Given the description of an element on the screen output the (x, y) to click on. 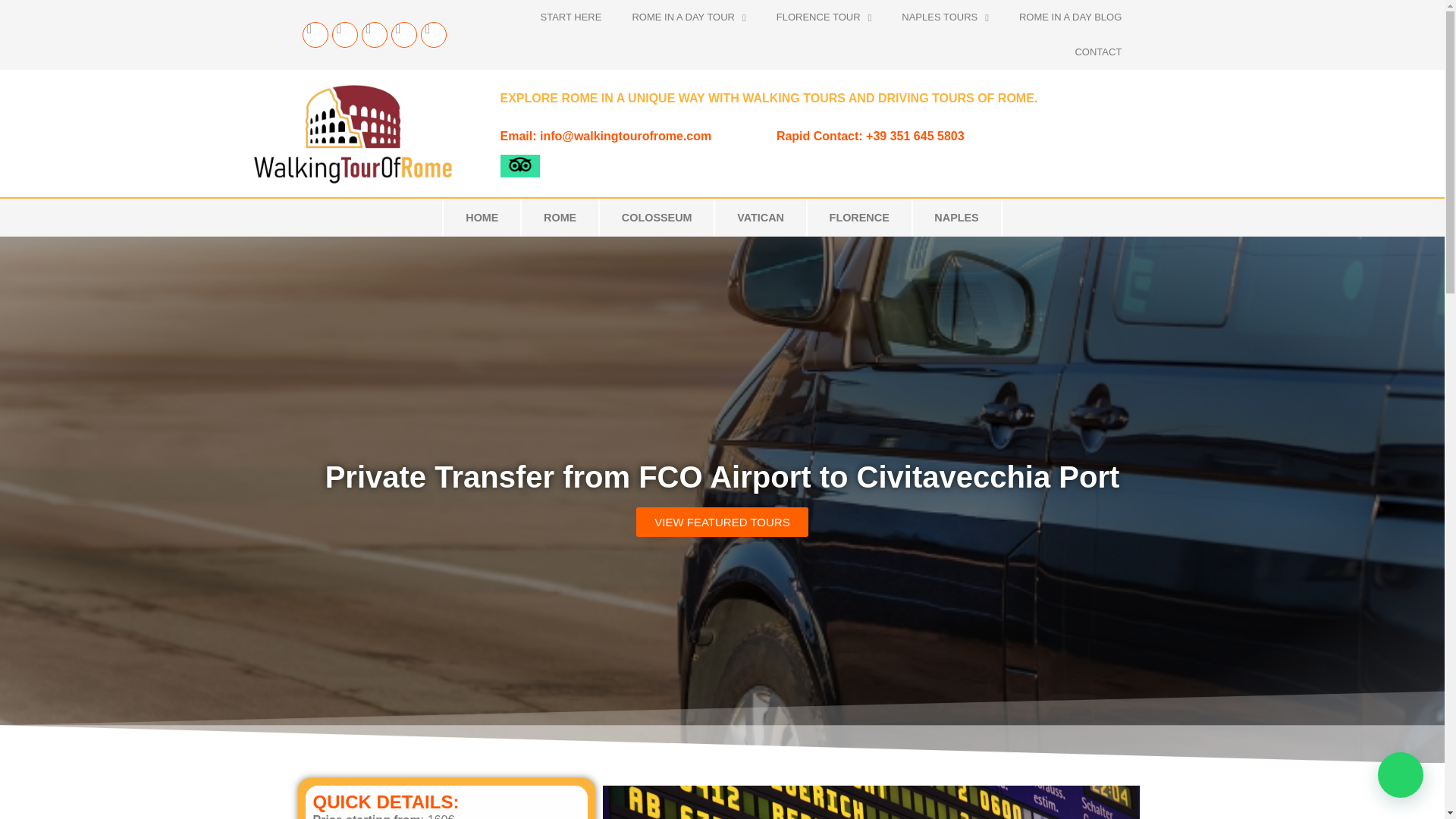
wtr tripadvisor logo (520, 165)
NAPLES TOURS (945, 17)
logo Walking Tour of Rome (352, 133)
ROME IN A DAY TOUR (687, 17)
CONTACT (1098, 52)
FLORENCE TOUR (823, 17)
START HERE (571, 17)
ROME IN A DAY BLOG (1070, 17)
